Given the description of an element on the screen output the (x, y) to click on. 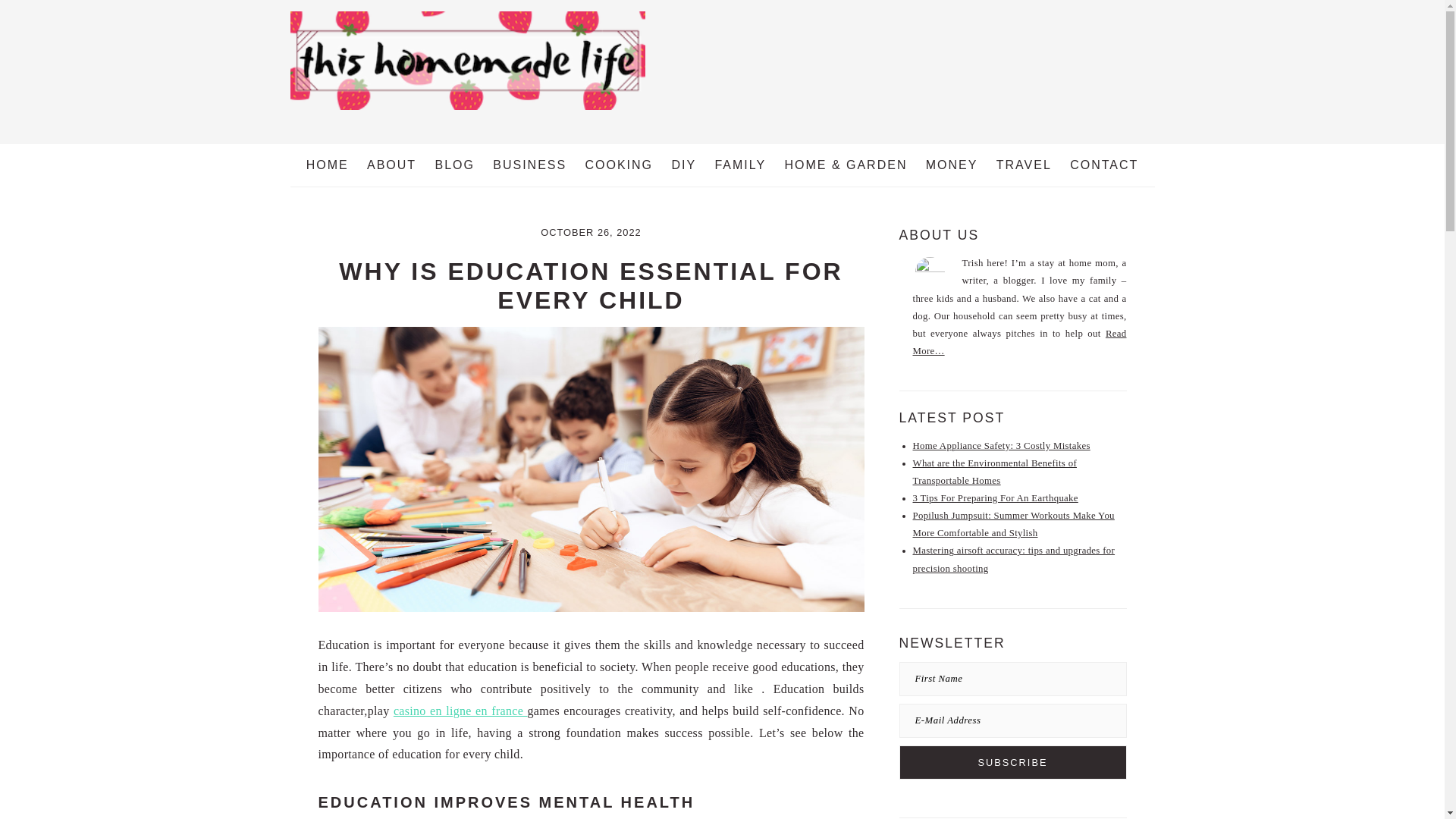
HOME (327, 165)
casino en ligne en france (460, 710)
BLOG (453, 165)
Subscribe (1012, 762)
FAMILY (739, 165)
CONTACT (1103, 165)
Home Appliance Safety: 3 Costly Mistakes (1001, 445)
MONEY (951, 165)
TRAVEL (1023, 165)
This Home Made Life (467, 60)
COOKING (619, 165)
What are the Environmental Benefits of Transportable Homes (994, 471)
ABOUT (391, 165)
